Given the description of an element on the screen output the (x, y) to click on. 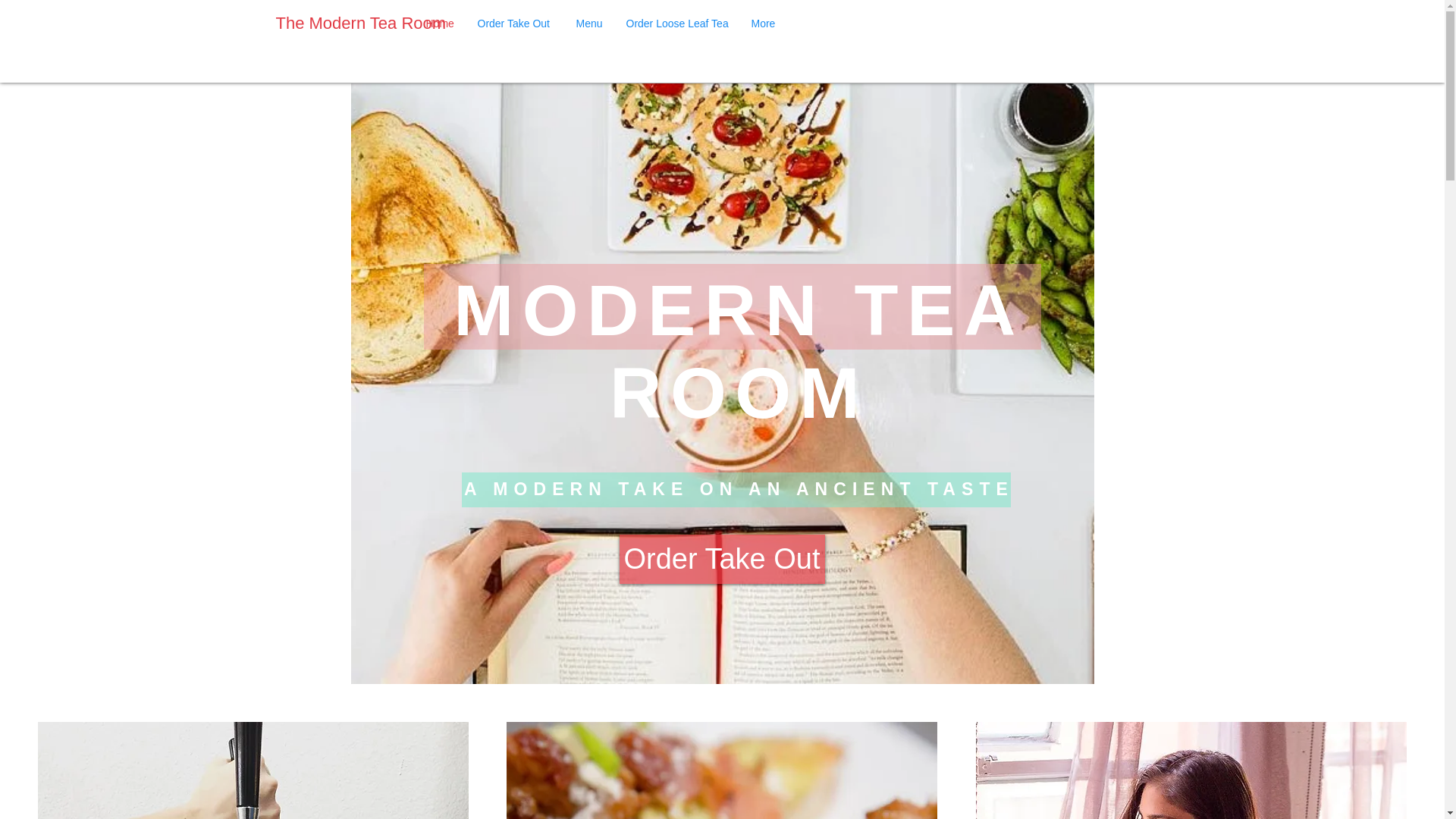
Menu (589, 23)
Home (439, 23)
Order Take Out (721, 558)
Order Loose Leaf Tea (676, 23)
The Modern Tea Room (361, 23)
Order Take Out (514, 23)
